Given the description of an element on the screen output the (x, y) to click on. 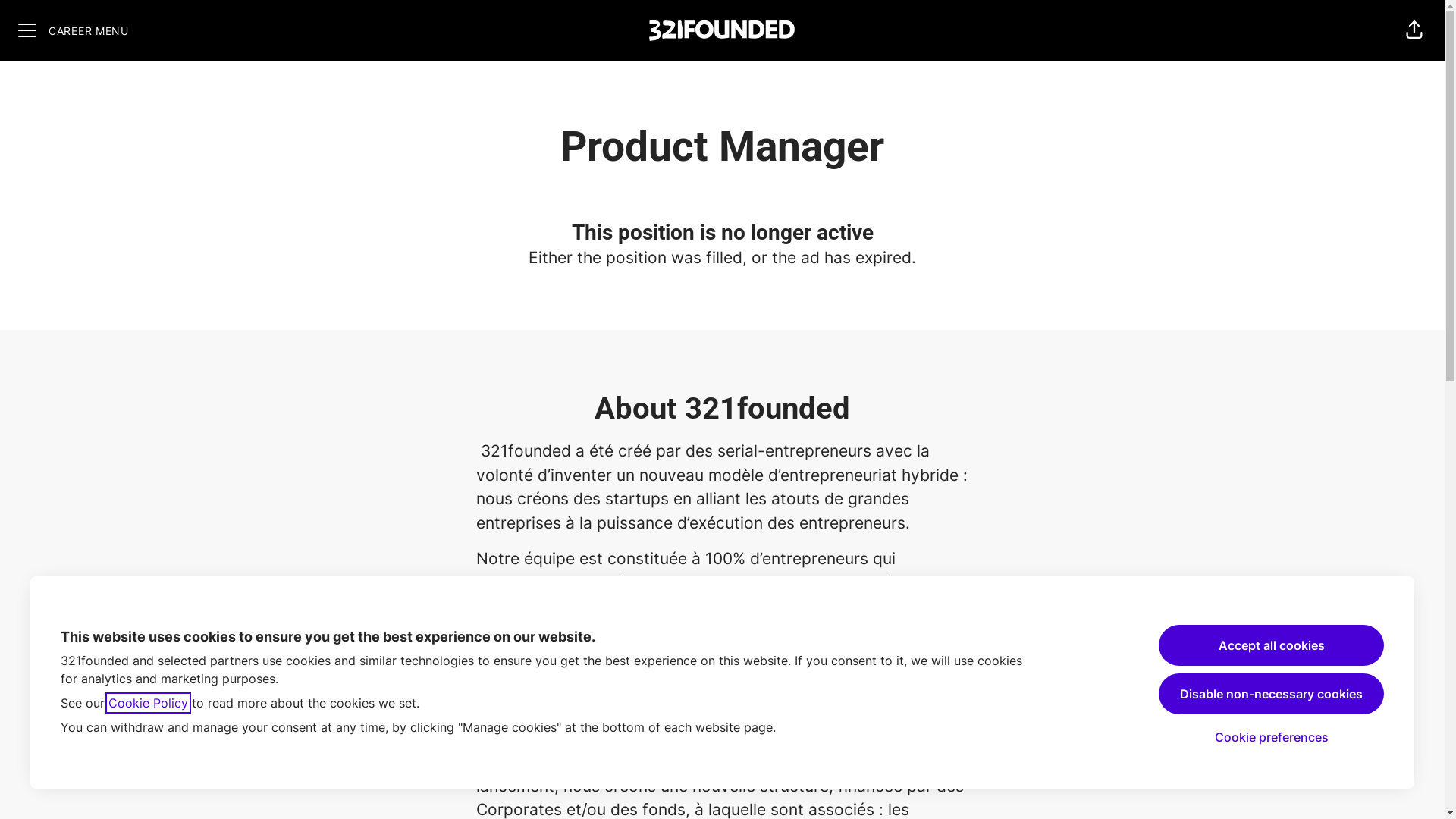
Cookie Policy Element type: text (148, 702)
CAREER MENU Element type: text (73, 30)
Share page Element type: hover (1414, 30)
Accept all cookies Element type: text (1270, 644)
Disable non-necessary cookies Element type: text (1270, 693)
Cookie preferences Element type: text (1271, 736)
